Given the description of an element on the screen output the (x, y) to click on. 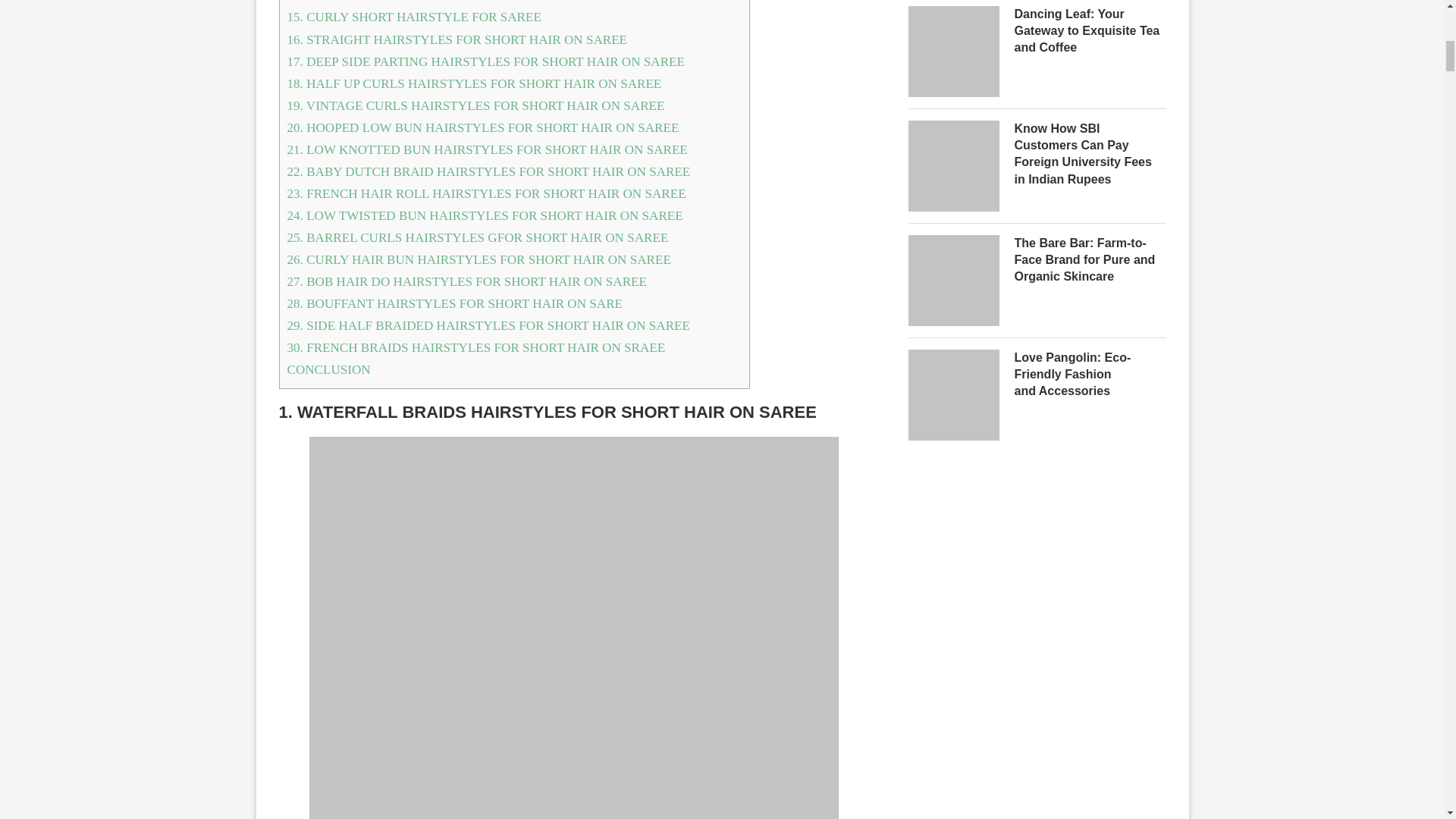
Dancing Leaf: Your Gateway to Exquisite Tea and Coffee (1090, 30)
Dancing Leaf: Your Gateway to Exquisite Tea and Coffee (953, 15)
